Given the description of an element on the screen output the (x, y) to click on. 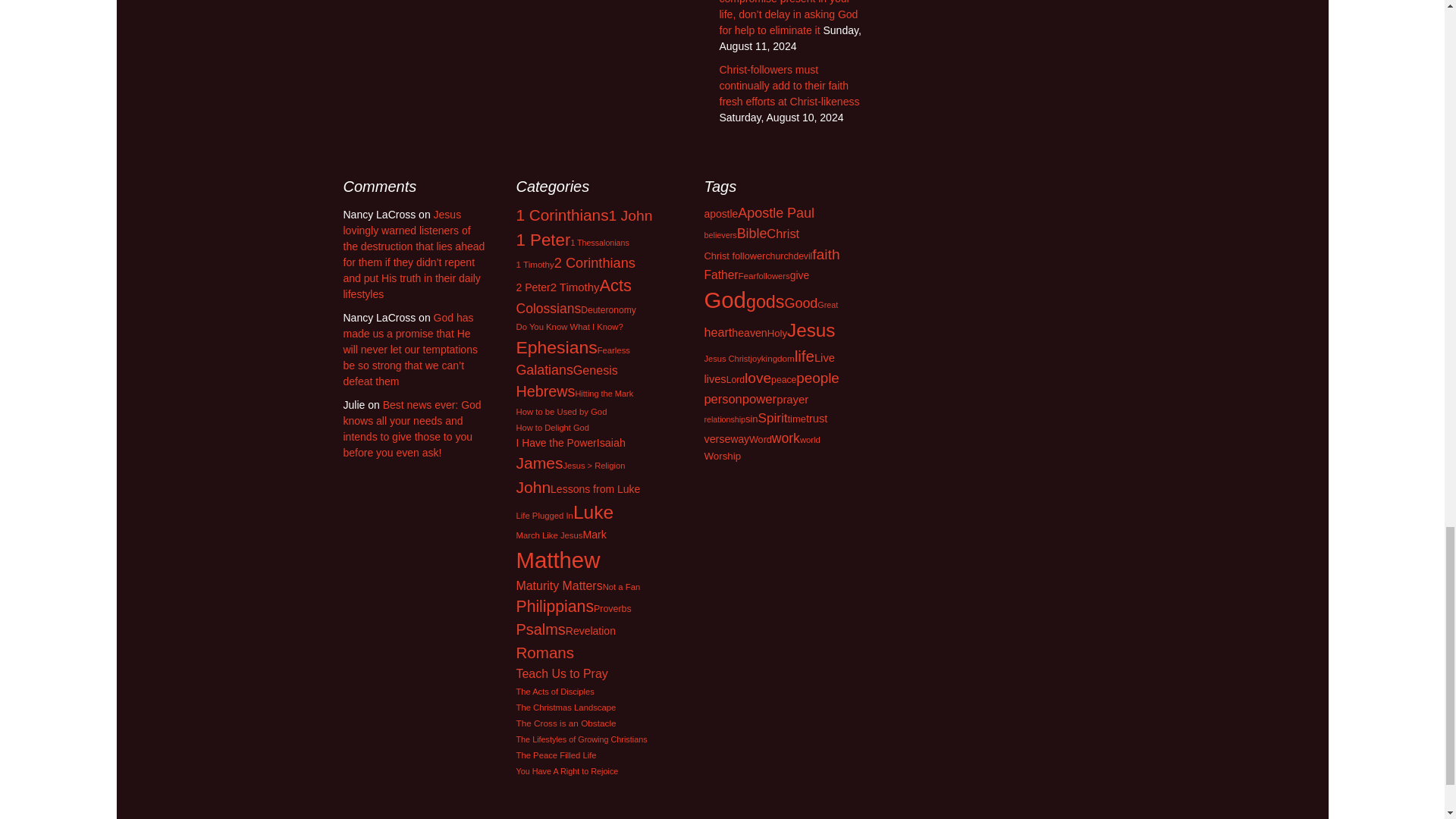
2 Peter (532, 287)
2 Corinthians (594, 263)
1 John (630, 215)
1 Corinthians (561, 214)
1 Peter (542, 239)
1 Thessalonians (599, 242)
1 Timothy (534, 264)
